Given the description of an element on the screen output the (x, y) to click on. 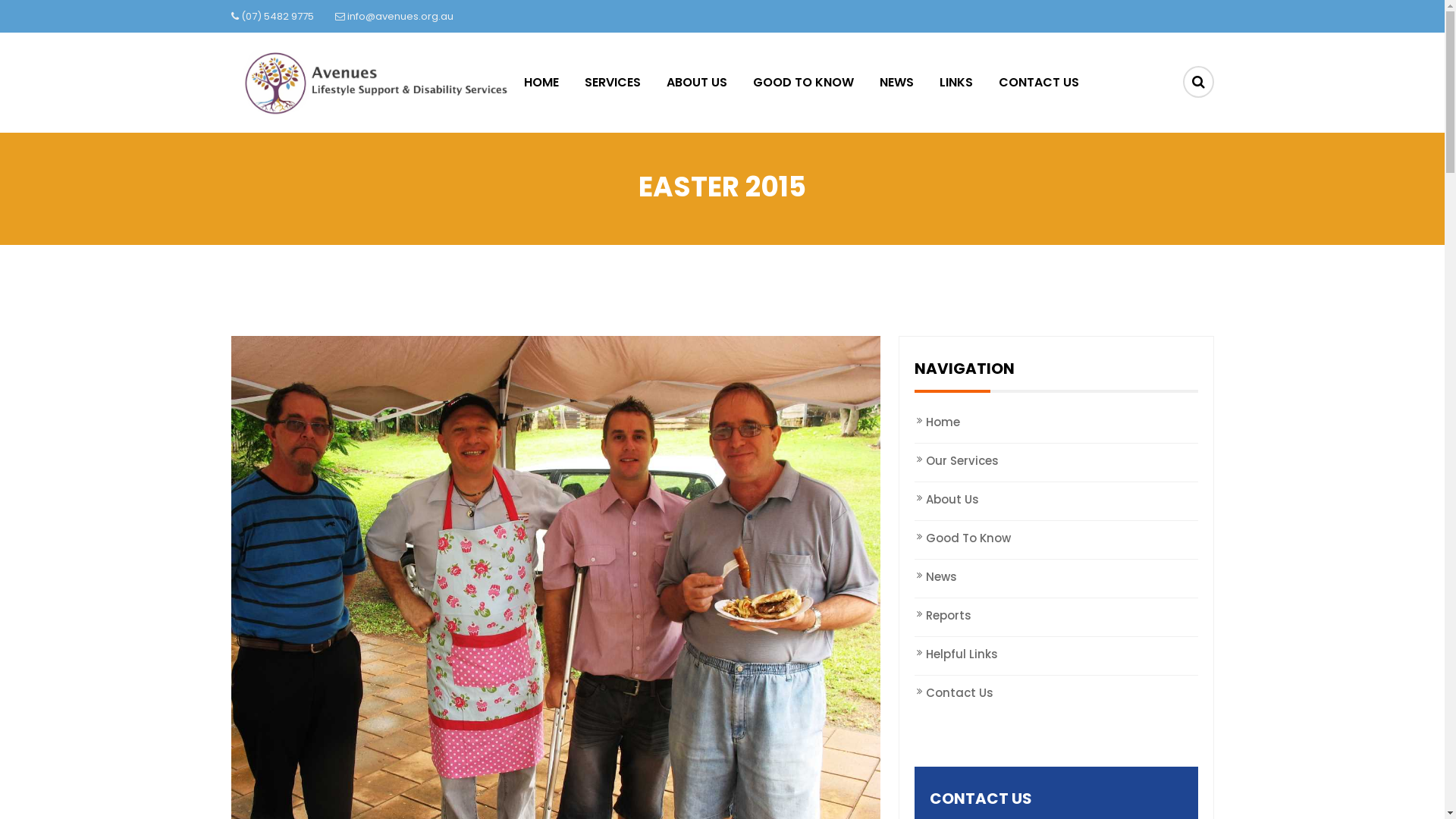
Reports Element type: text (1056, 615)
About Us Element type: text (1056, 499)
HOME Element type: text (547, 82)
ABOUT US Element type: text (696, 82)
Our Services Element type: text (1056, 460)
NEWS Element type: text (895, 82)
CONTACT US Element type: text (1038, 82)
Good To Know Element type: text (1056, 537)
GOOD TO KNOW Element type: text (803, 82)
Contact Us Element type: text (1056, 692)
LINKS Element type: text (955, 82)
Home Element type: text (1056, 421)
News Element type: text (1056, 576)
Helpful Links Element type: text (1056, 653)
SERVICES Element type: text (612, 82)
